Given the description of an element on the screen output the (x, y) to click on. 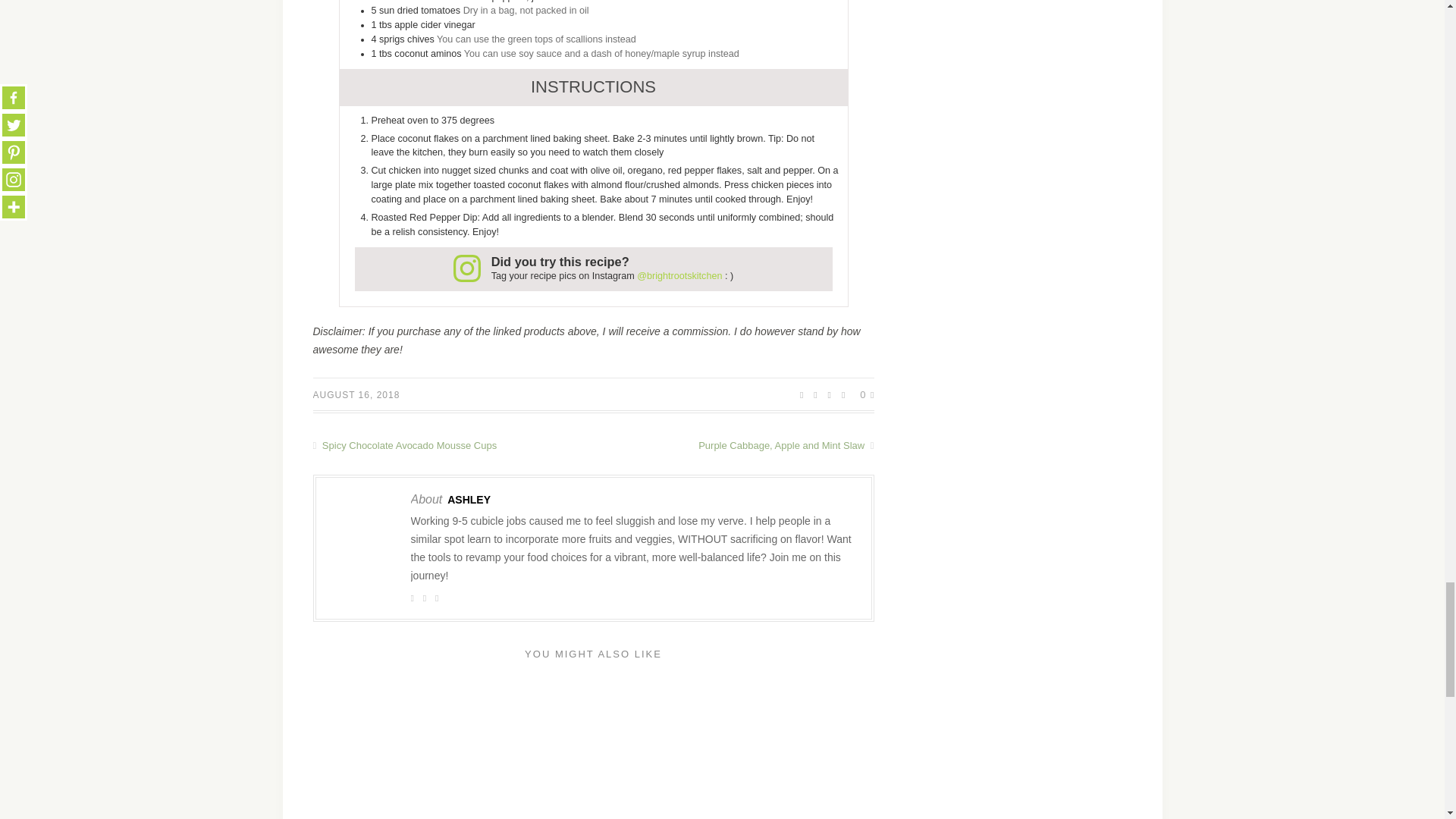
Posts by Ashley (468, 499)
